Given the description of an element on the screen output the (x, y) to click on. 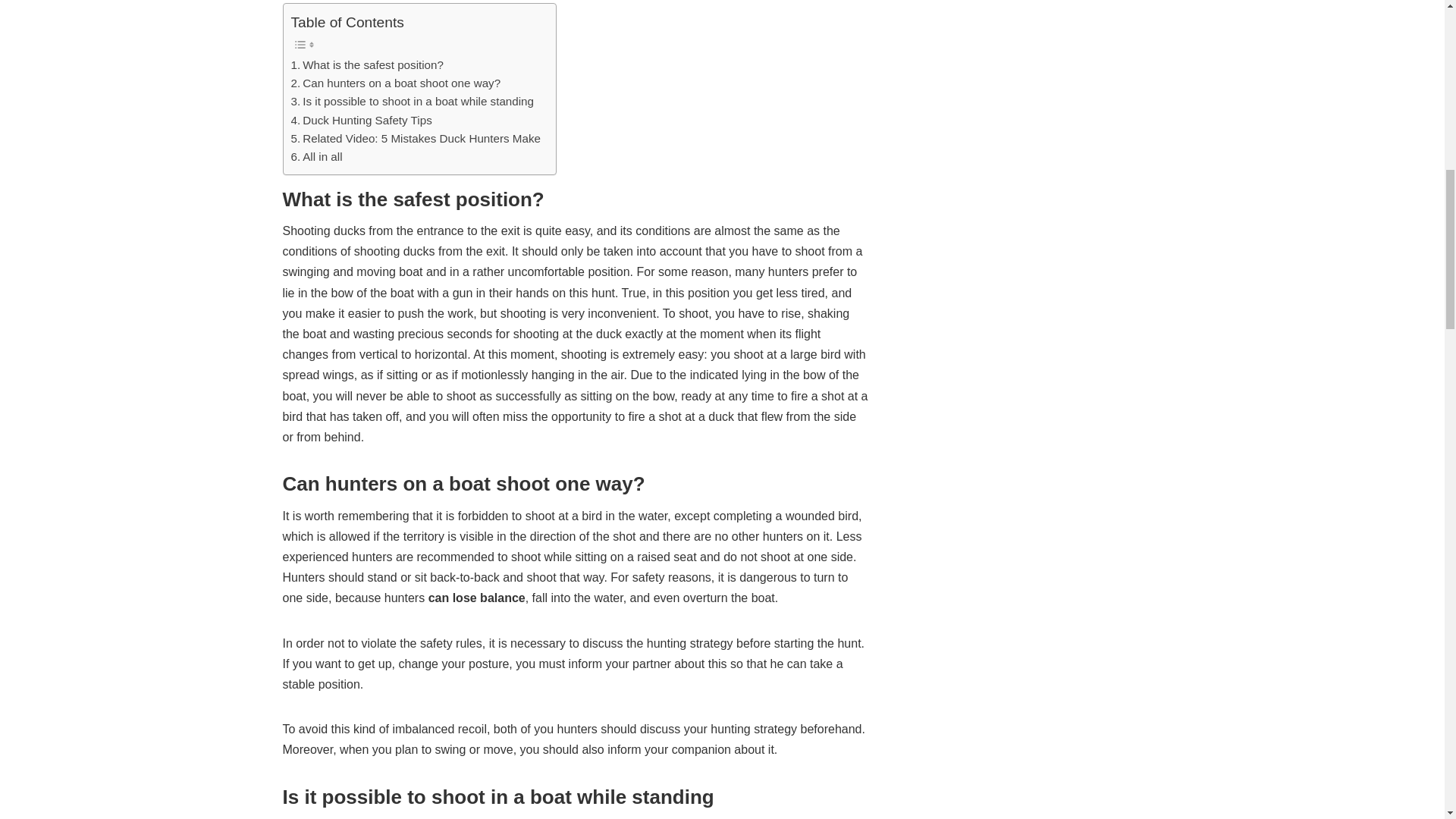
What is the safest position? (367, 65)
Can hunters on a boat shoot one way? (395, 83)
Duck Hunting Safety Tips (361, 120)
Related Video: 5 Mistakes Duck Hunters Make (415, 138)
Can hunters on a boat shoot one way? (395, 83)
Is it possible to shoot in a boat while standing (412, 101)
Duck Hunting Safety Tips (361, 120)
All in all (316, 157)
What is the safest position? (367, 65)
Related Video: 5 Mistakes Duck Hunters Make (415, 138)
